Given the description of an element on the screen output the (x, y) to click on. 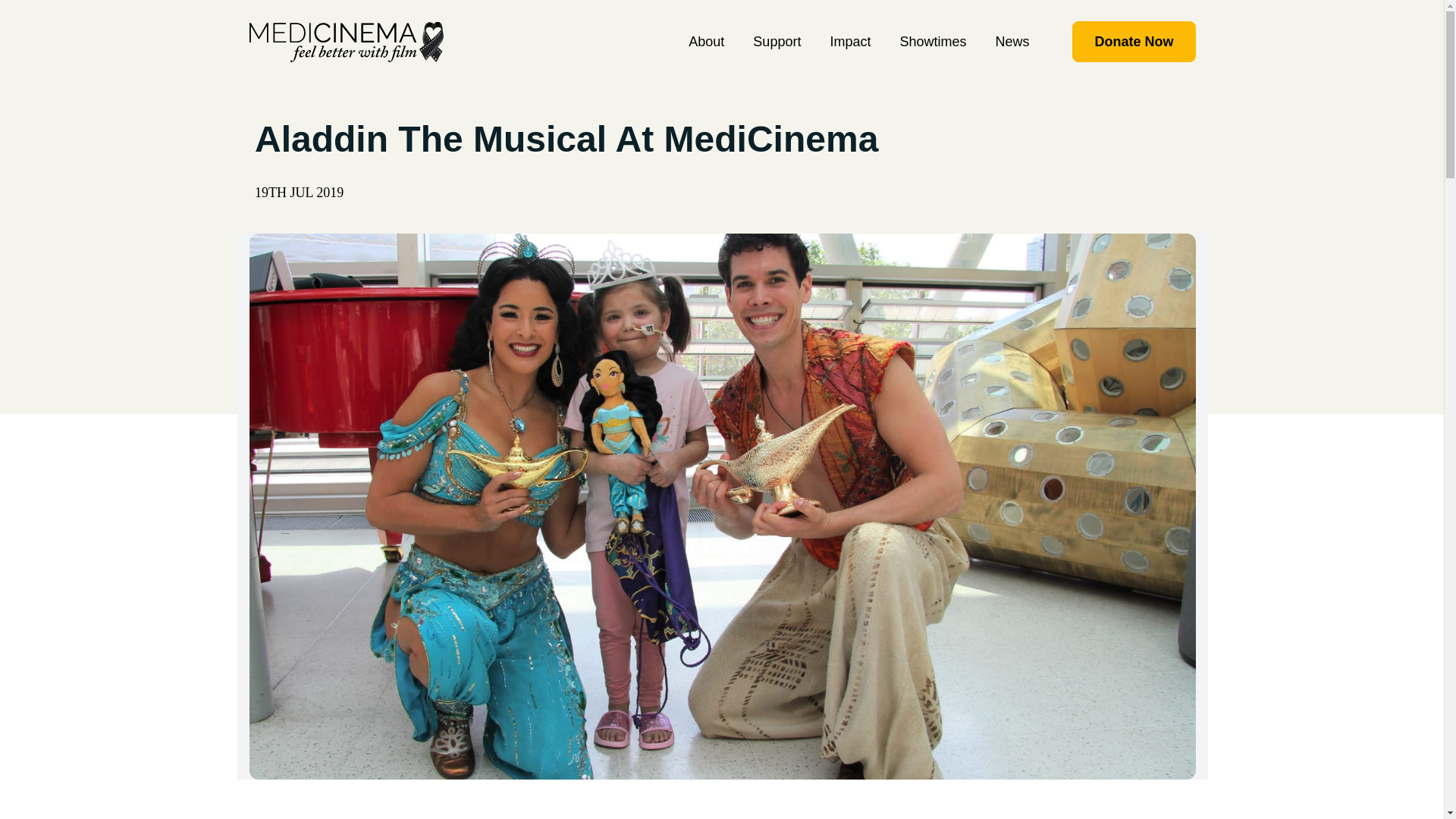
About (706, 41)
News (1011, 41)
Donate Now (1133, 41)
Impact (849, 41)
Support (777, 41)
Showtimes (932, 41)
Medicinema (345, 41)
